Given the description of an element on the screen output the (x, y) to click on. 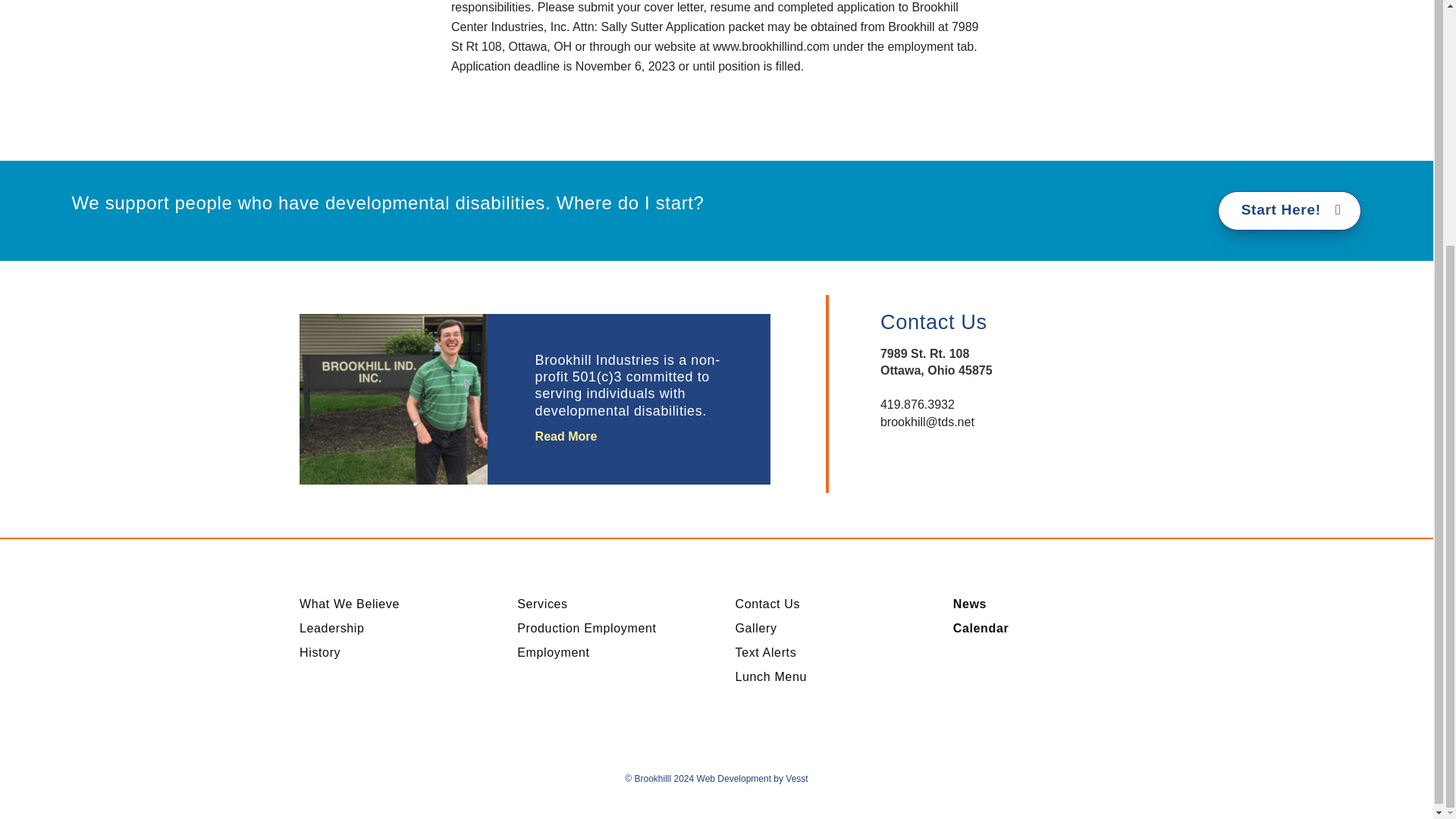
Services (541, 603)
Leadership (332, 627)
Text Alerts (765, 652)
Web Development by Vesst (752, 778)
Employment (552, 652)
What We Believe (348, 603)
History (319, 652)
Production Employment (586, 627)
Start Here! (1289, 210)
News (970, 603)
Gallery (756, 627)
Calendar (981, 627)
Lunch Menu (770, 676)
Contact Us (767, 603)
